Given the description of an element on the screen output the (x, y) to click on. 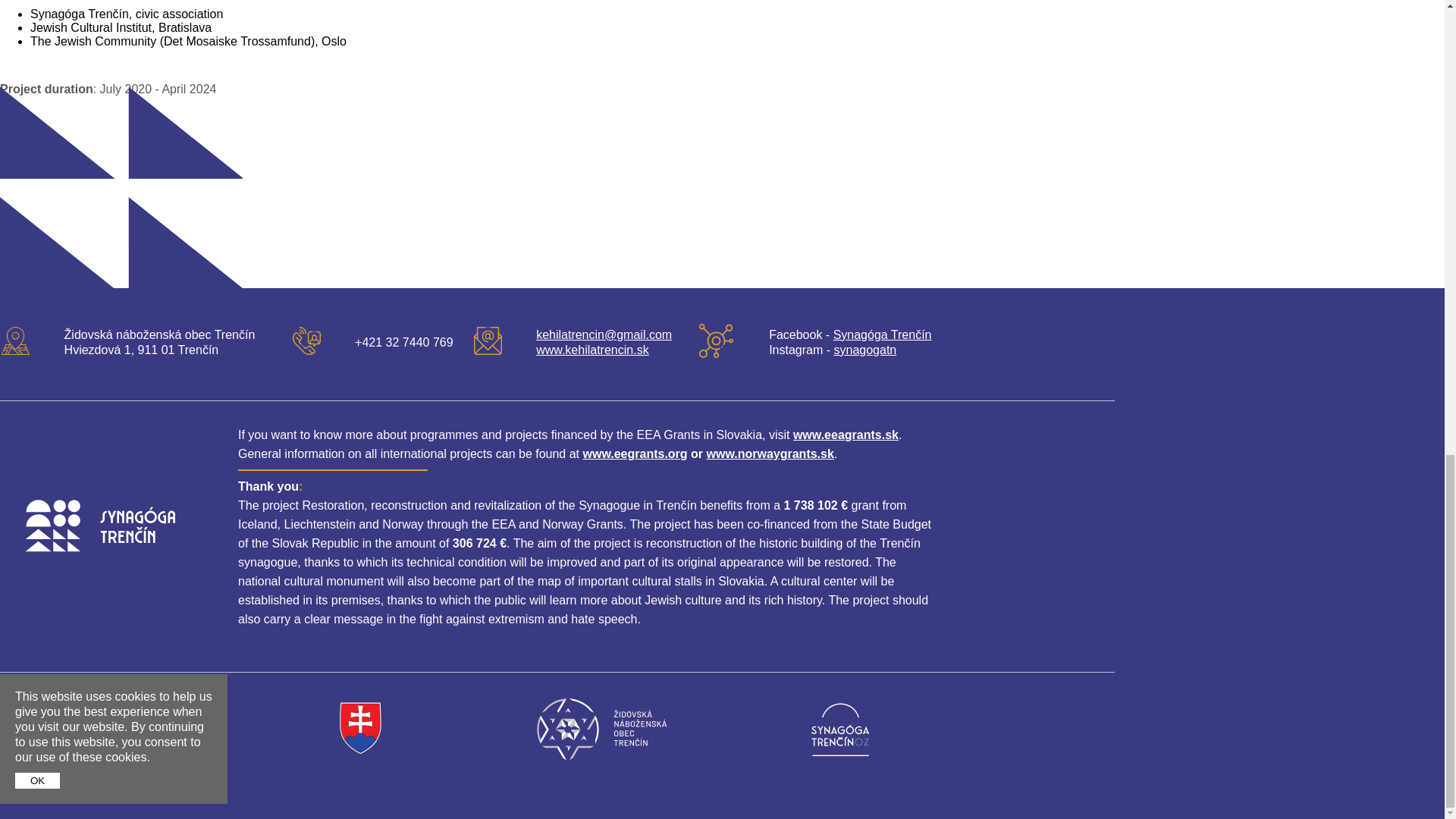
www.eeagrants.sk (845, 434)
synagogatn (865, 349)
www.kehilatrencin.sk (592, 349)
www.eegrants.org (634, 453)
www.norwaygrants.sk (770, 453)
